Given the description of an element on the screen output the (x, y) to click on. 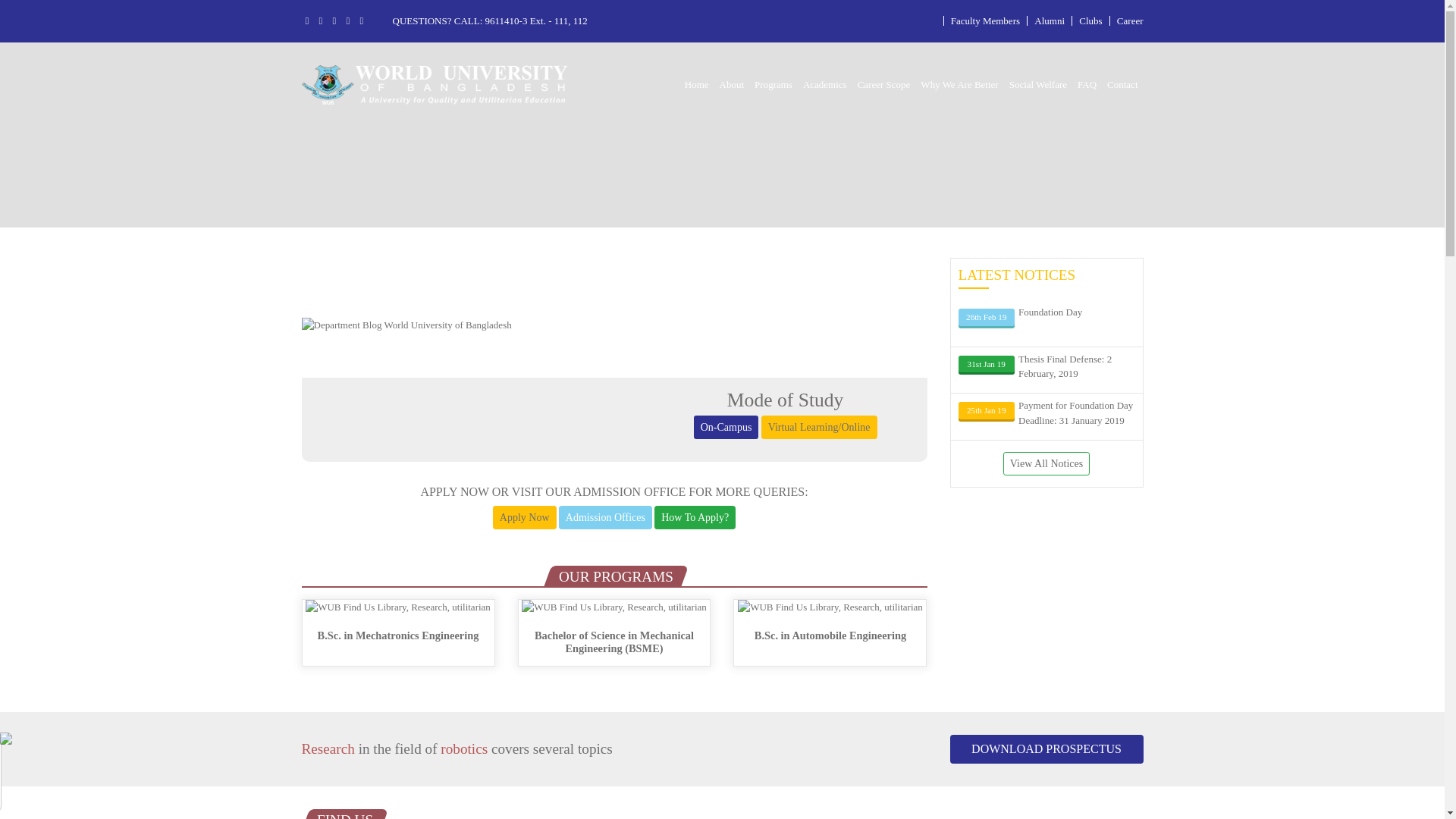
World University Bangladesh Twitter Page Element type: text (320, 20)
How To Apply? Element type: text (694, 517)
Thesis Final Defense: 2 February, 2019 Element type: text (1075, 367)
Why We Are Better Element type: text (959, 84)
About Element type: text (731, 84)
On-Campus Element type: text (726, 427)
FAQ Element type: text (1086, 84)
DOWNLOAD PROSPECTUS Element type: text (1045, 748)
B.Sc. in Mechatronics Engineering Element type: text (398, 627)
World University Bangladesh Youtube Page Element type: text (361, 20)
Contact Element type: text (1121, 84)
Foundation Day Element type: text (1075, 320)
Apply Now Element type: text (524, 517)
World University Bangladesh Instagram Page Element type: text (348, 20)
Logo World University of Bangladesh Element type: hover (434, 84)
Alumni Element type: text (1049, 20)
Career Scope Element type: text (884, 84)
View All Notices Element type: text (1046, 463)
B.Sc. in Automobile Engineering Element type: text (829, 627)
Clubs Element type: text (1090, 20)
Home Element type: text (696, 84)
Bachelor of Science in Mechanical Engineering (BSME) Element type: text (614, 627)
Programs Element type: text (773, 84)
World University Bangladesh Facebook Page Element type: text (307, 20)
Career Element type: text (1130, 20)
Academics Element type: text (824, 84)
World University Bangladesh Google Plus Page Element type: text (334, 20)
Virtual Learning/Online Element type: text (819, 427)
Faculty Members Element type: text (984, 20)
Admission Offices Element type: text (605, 517)
Social Welfare Element type: text (1038, 84)
Payment for Foundation Day Deadline: 31 January 2019 Element type: text (1075, 414)
